Given the description of an element on the screen output the (x, y) to click on. 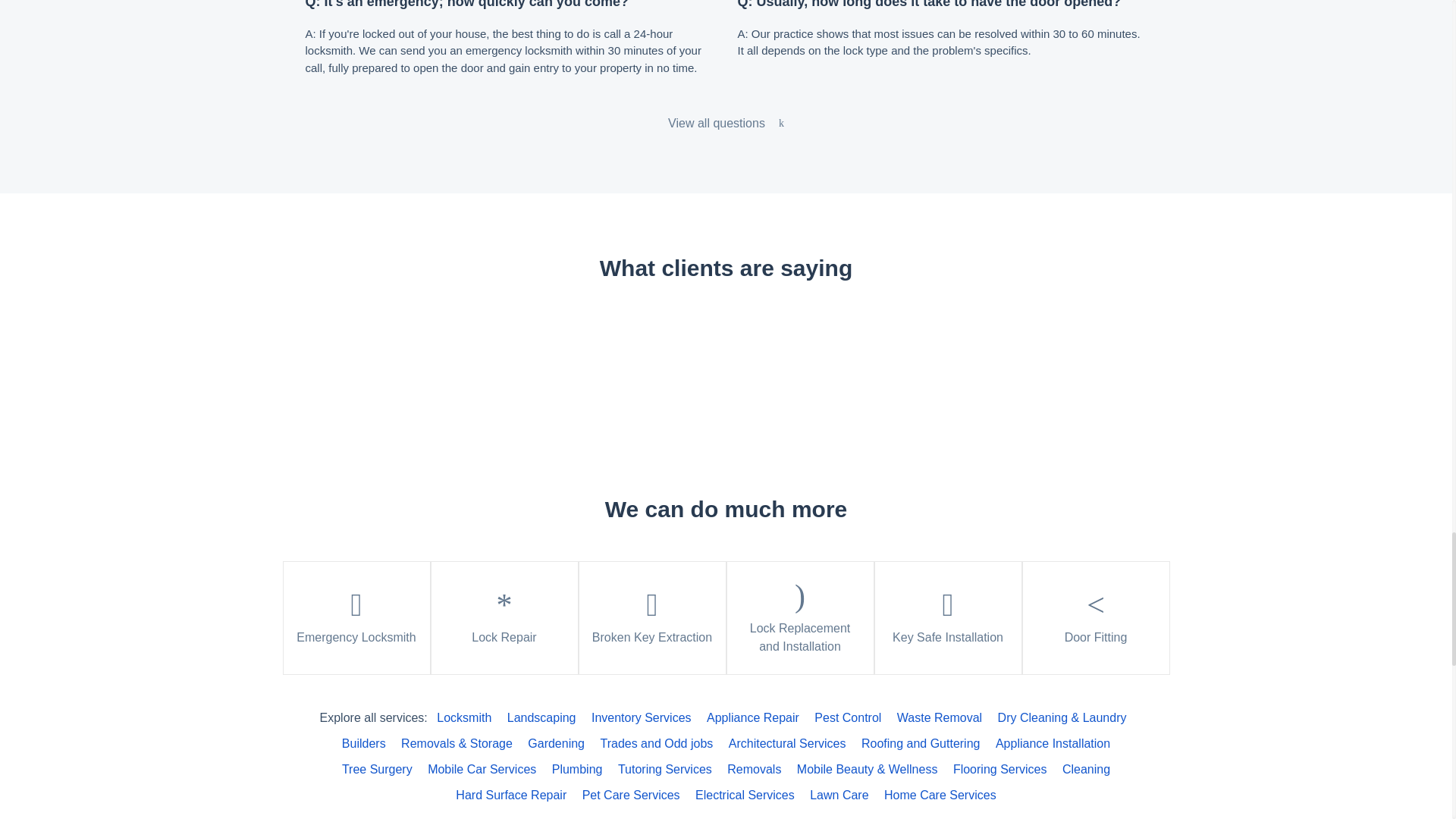
Emergency Locksmith (355, 617)
Lock Repair (504, 617)
